Given the description of an element on the screen output the (x, y) to click on. 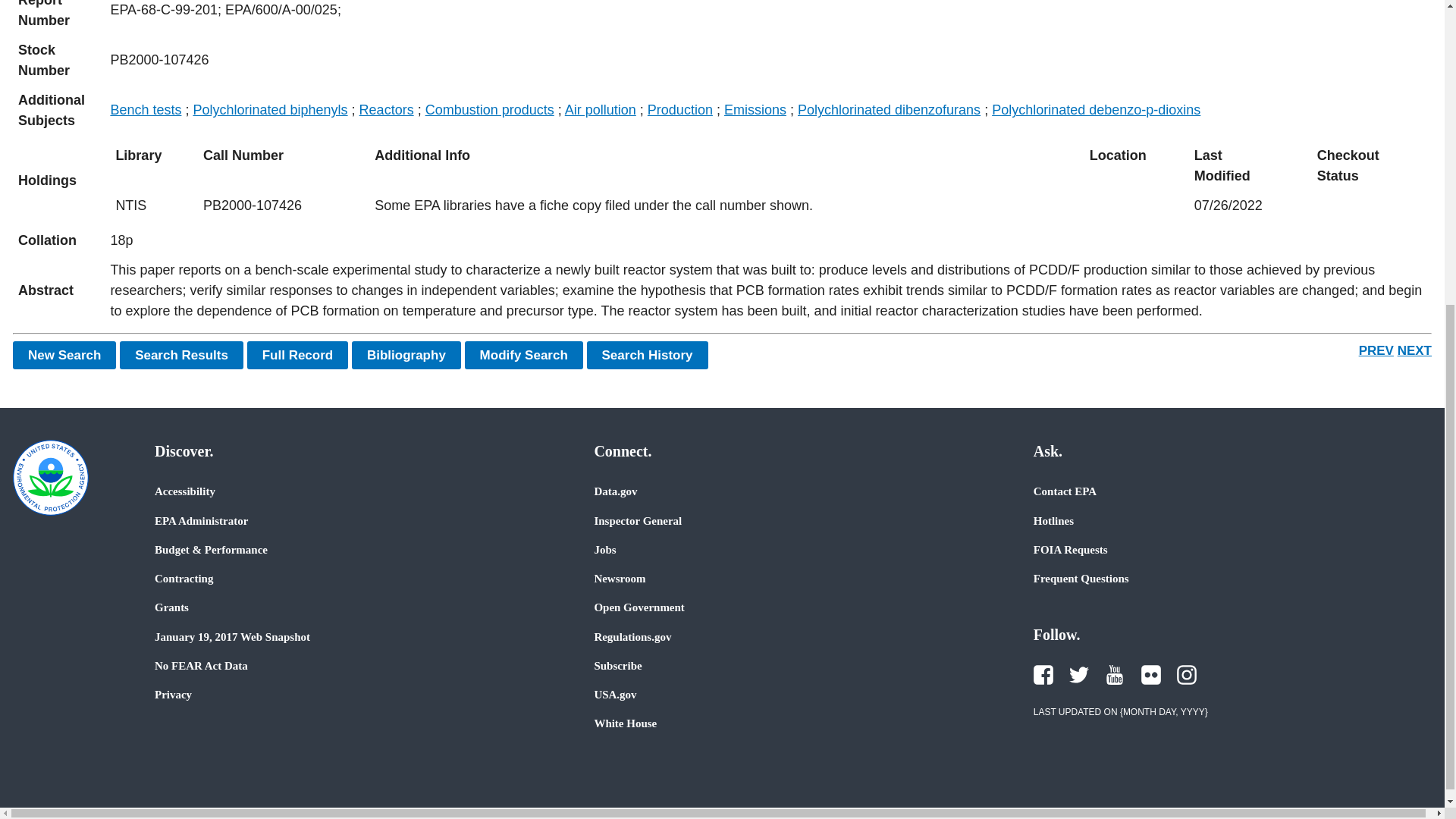
Privacy (173, 694)
Inspector General (637, 520)
Search History (646, 355)
Contracting (183, 578)
Display Full Record (298, 355)
Search Results (181, 355)
January 19, 2017 Web Snapshot (232, 636)
Reactors (386, 109)
Full Record (298, 355)
Polychlorinated debenzo-p-dioxins (1095, 109)
